Given the description of an element on the screen output the (x, y) to click on. 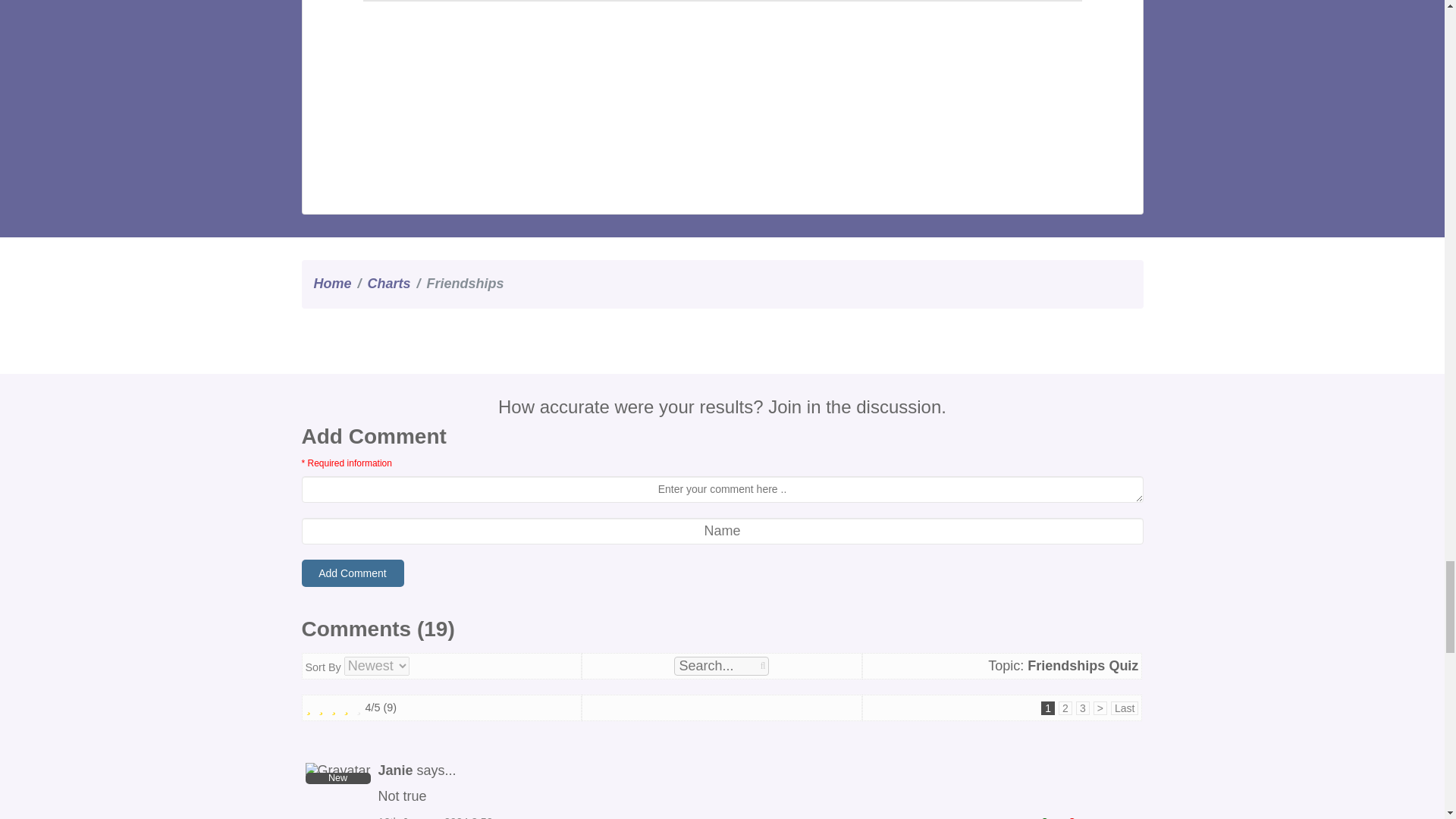
Home (333, 283)
0 (1067, 817)
Sort By (376, 665)
Last (1124, 707)
0 (1040, 817)
2 (1064, 707)
Enter your comment here (721, 488)
Enter your name here (721, 530)
3 (1084, 707)
Enter search term here (721, 665)
Charts (389, 283)
Add Comment (352, 573)
Add Comment (352, 573)
